Given the description of an element on the screen output the (x, y) to click on. 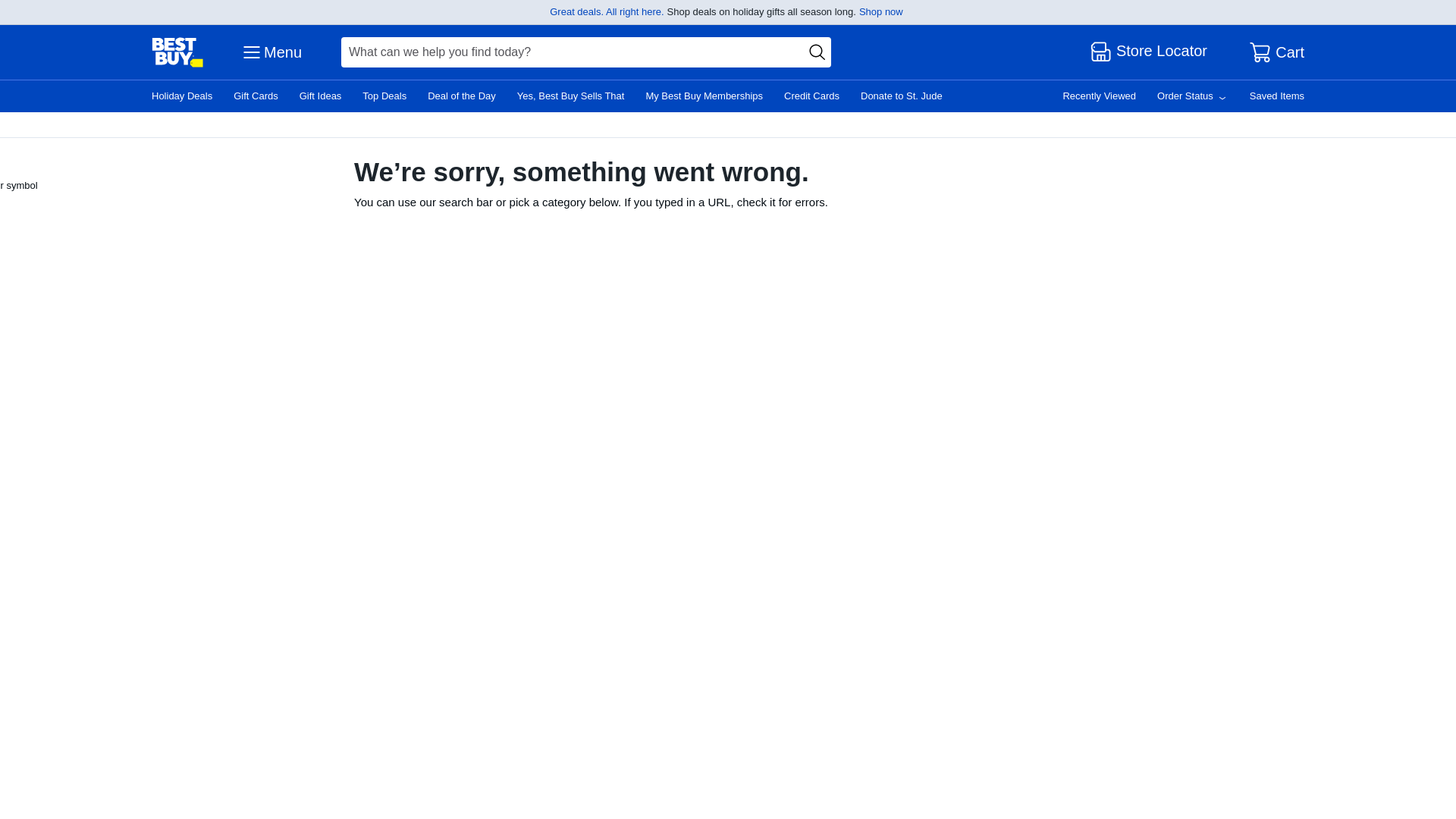
My Best Buy Memberships (703, 95)
Shop now (880, 11)
Gift Ideas (320, 95)
Menu (270, 52)
Yes, Best Buy Sells That (570, 95)
Gift Cards (255, 95)
submit search (817, 51)
Donate to St. Jude (901, 95)
Cart (1276, 51)
Top Deals (384, 95)
Saved Items (1276, 96)
BestBuy.com (177, 51)
Recently Viewed (1098, 96)
Deal of the Day (462, 95)
Holiday Deals (181, 95)
